Given the description of an element on the screen output the (x, y) to click on. 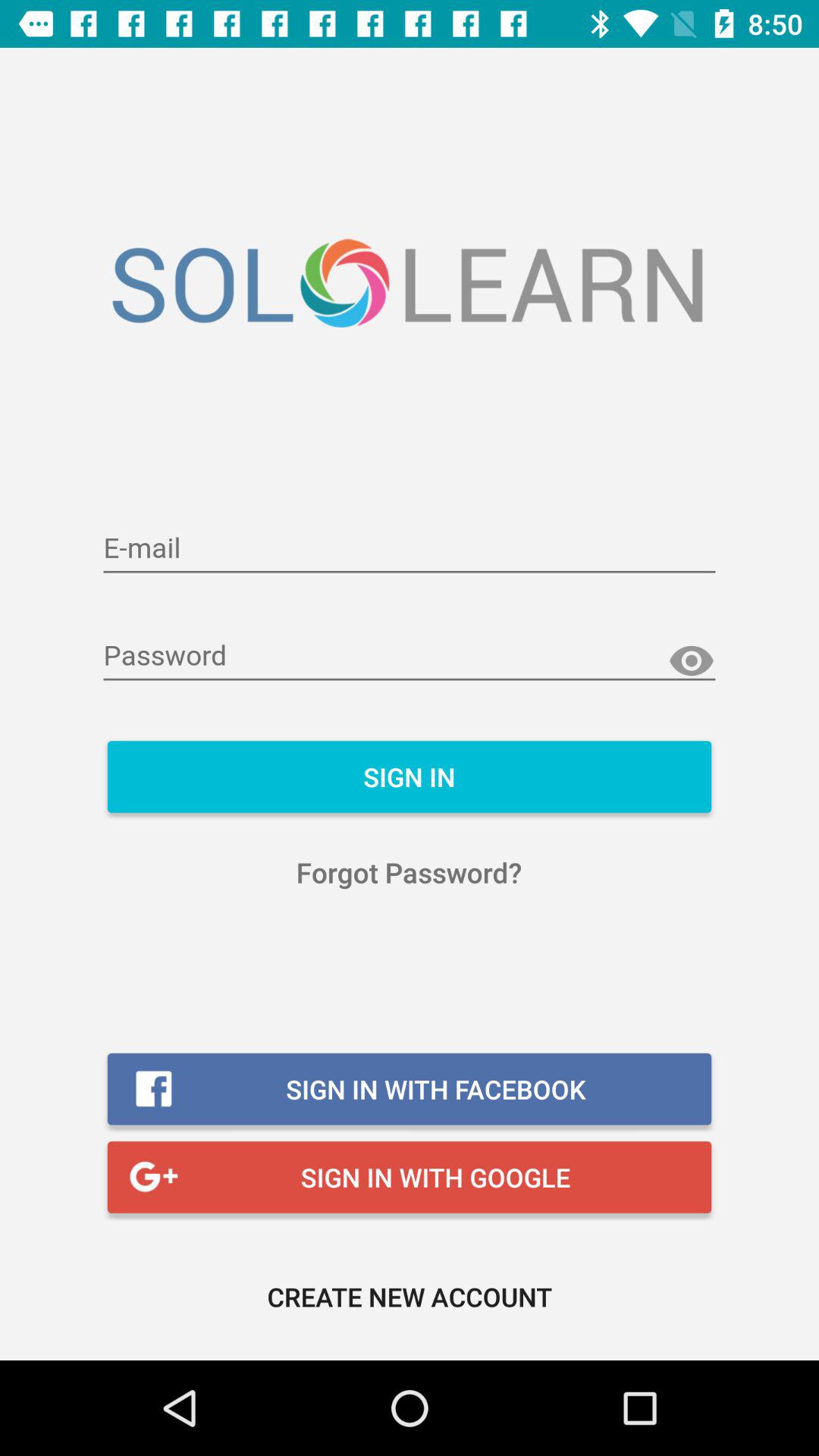
show password (691, 661)
